Given the description of an element on the screen output the (x, y) to click on. 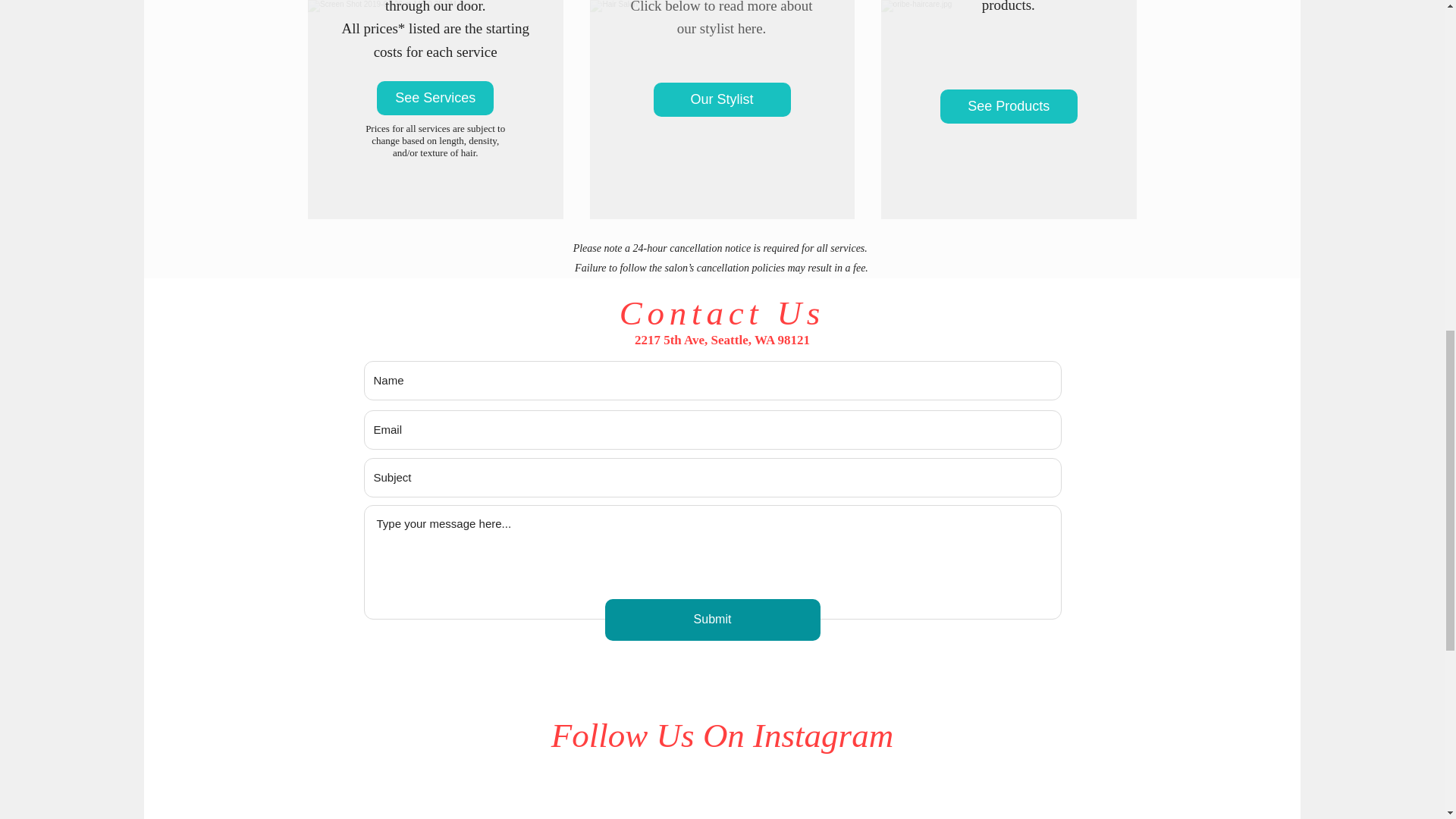
See Products (1008, 106)
Our Stylist (721, 99)
See Services (435, 98)
Submit (713, 619)
